Given the description of an element on the screen output the (x, y) to click on. 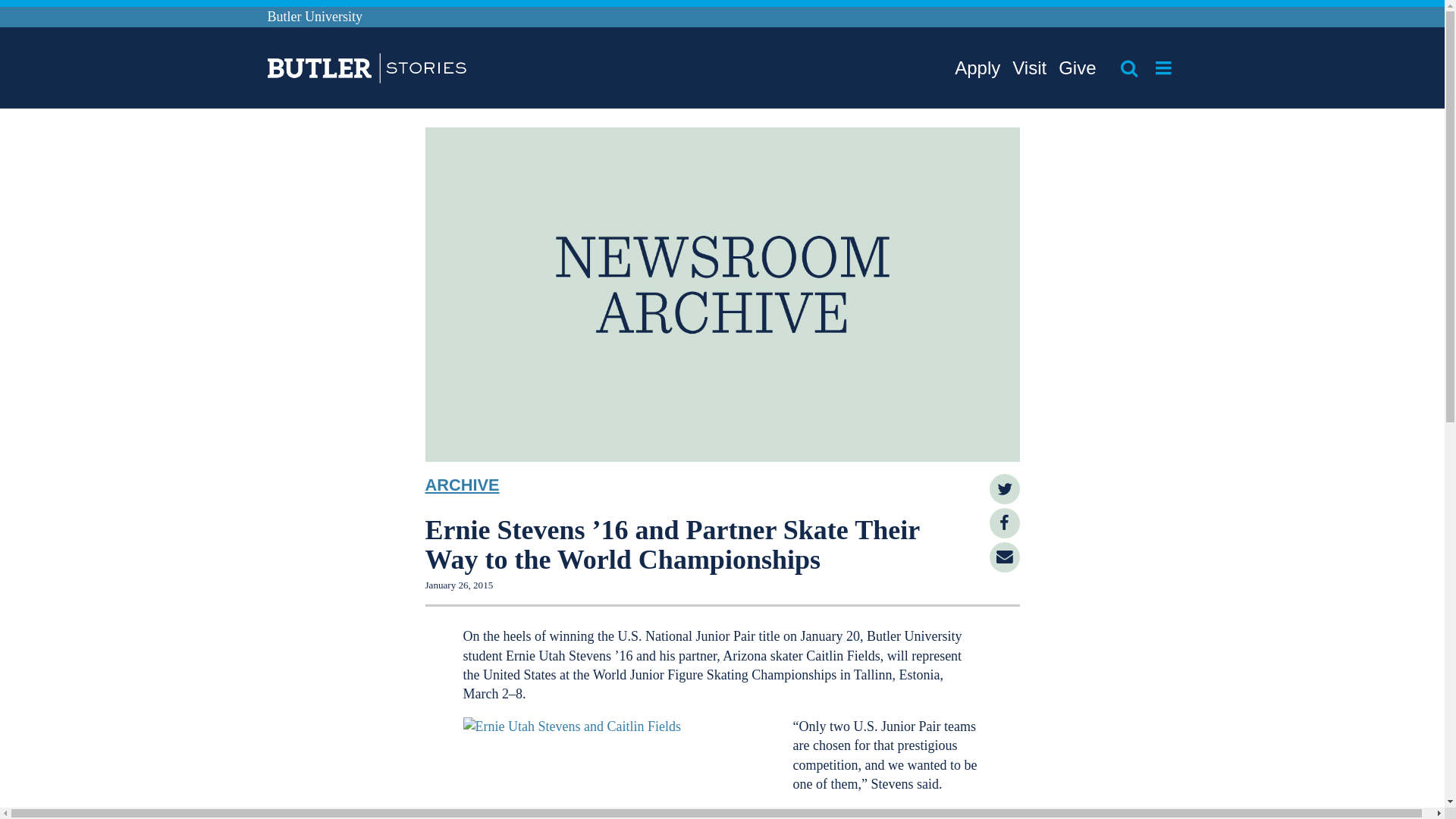
Give (1077, 68)
Visit (1028, 68)
Butler University (313, 16)
Stories (344, 69)
Apply (977, 68)
